Given the description of an element on the screen output the (x, y) to click on. 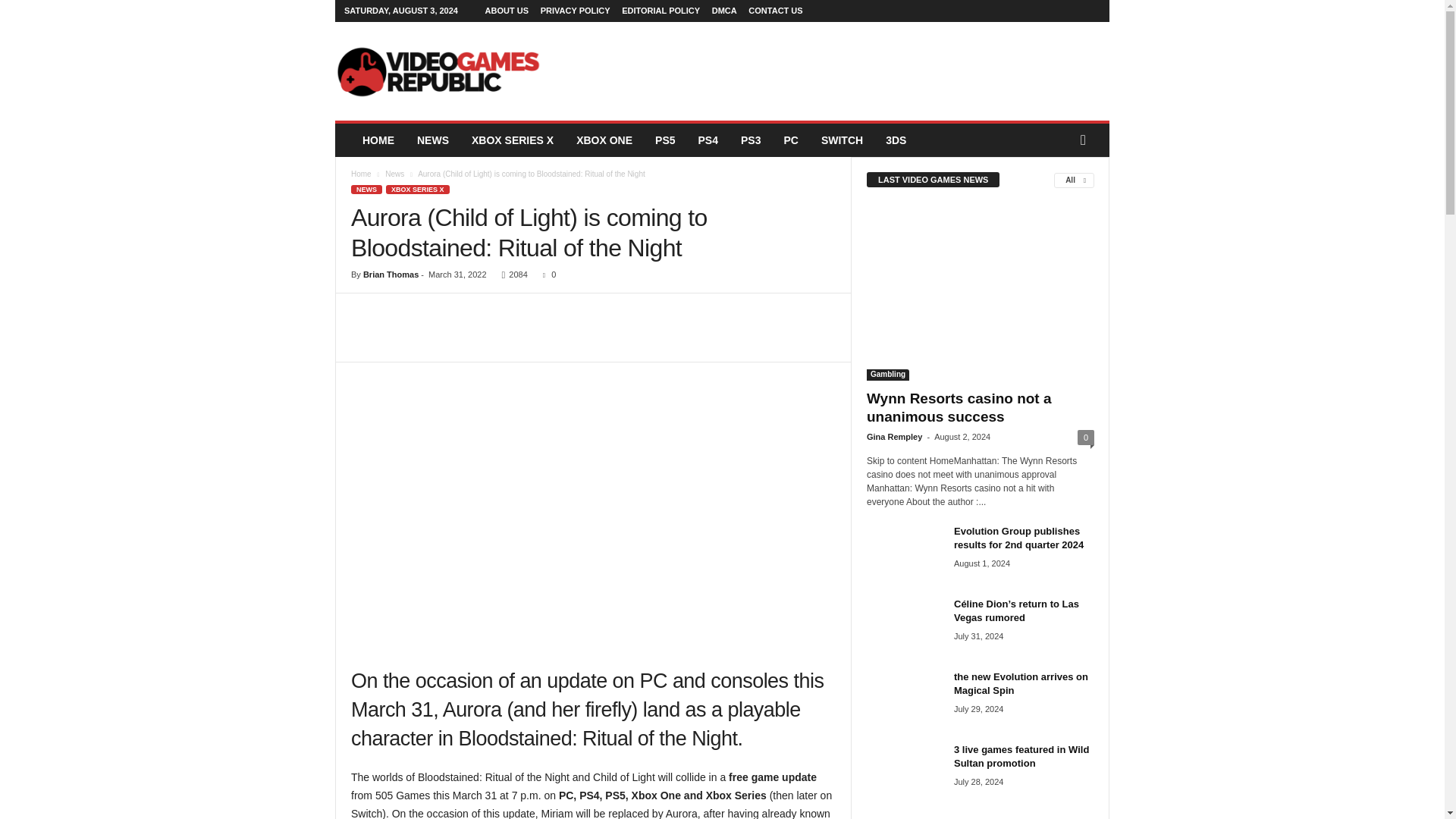
ABOUT US (506, 10)
DMCA (723, 10)
NEWS (433, 140)
VideoGamesRepublic.com (437, 70)
CONTACT US (775, 10)
PRIVACY POLICY (575, 10)
HOME (378, 140)
EDITORIAL POLICY (660, 10)
